Given the description of an element on the screen output the (x, y) to click on. 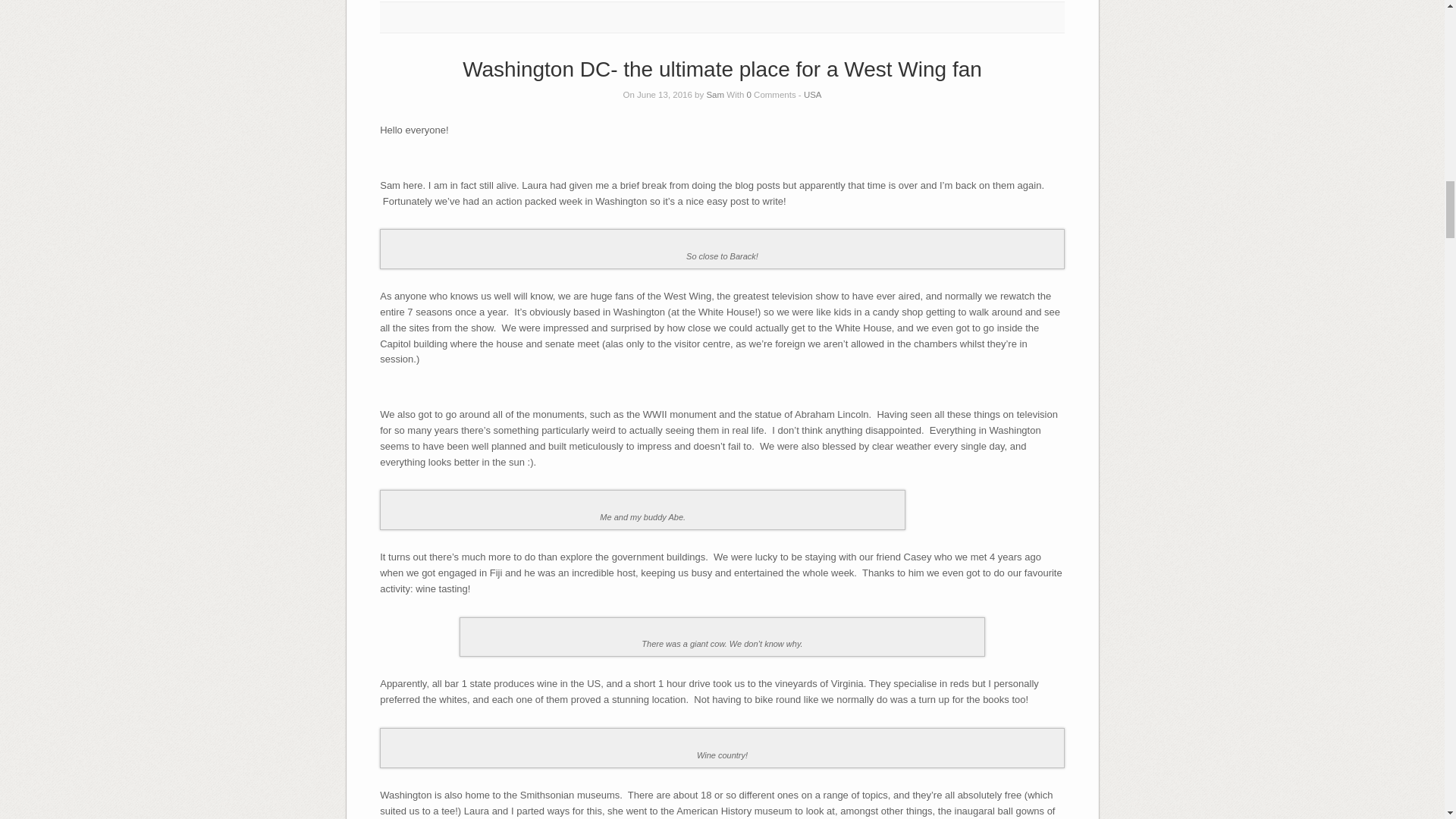
Washington DC- the ultimate place for a West Wing fan (722, 69)
Sam (714, 94)
USA (812, 94)
